Given the description of an element on the screen output the (x, y) to click on. 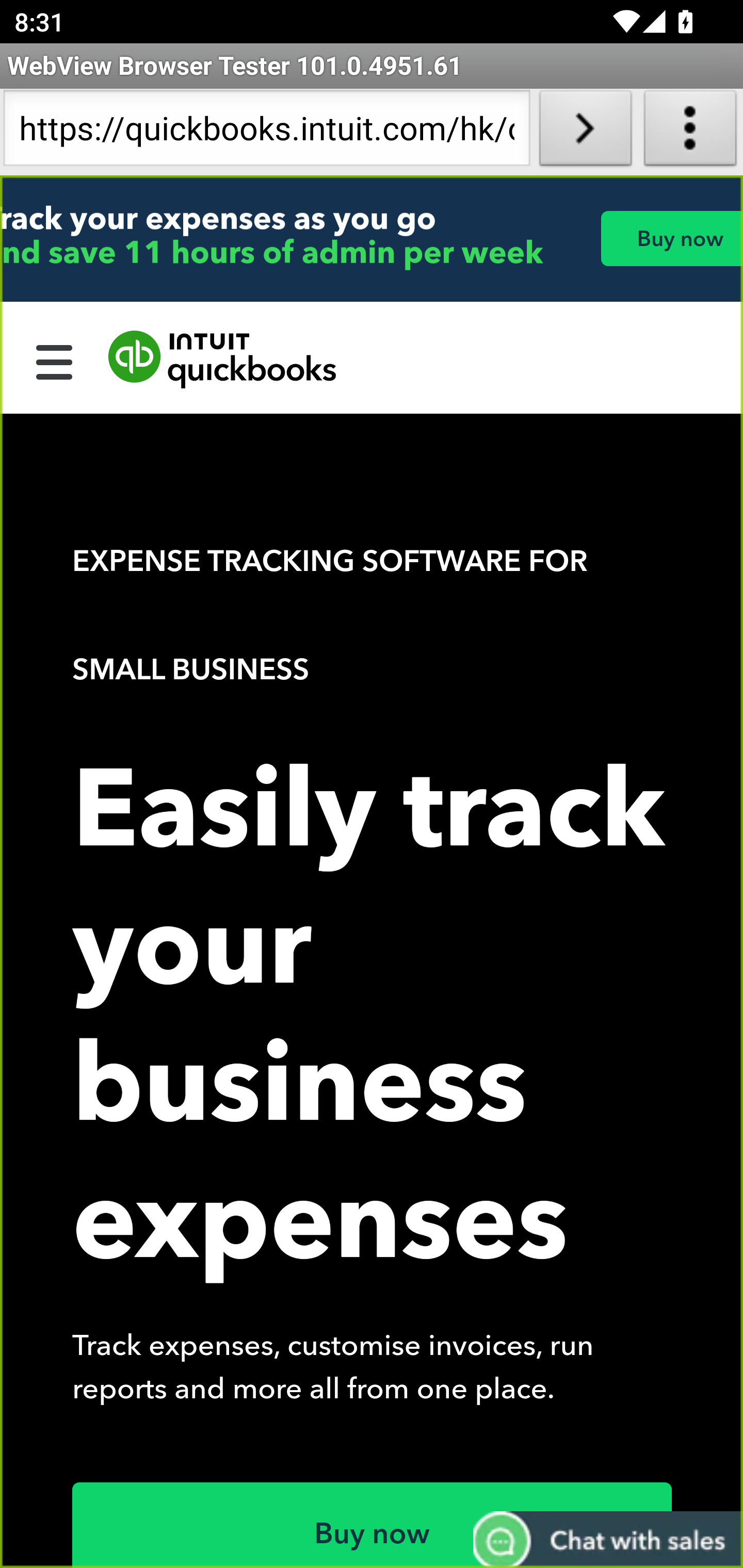
Load URL (585, 132)
About WebView (690, 132)
Buy now (671, 238)
quickbooks-mobile-burger (54, 359)
quickbooks (222, 359)
Buy now (372, 1524)
